Given the description of an element on the screen output the (x, y) to click on. 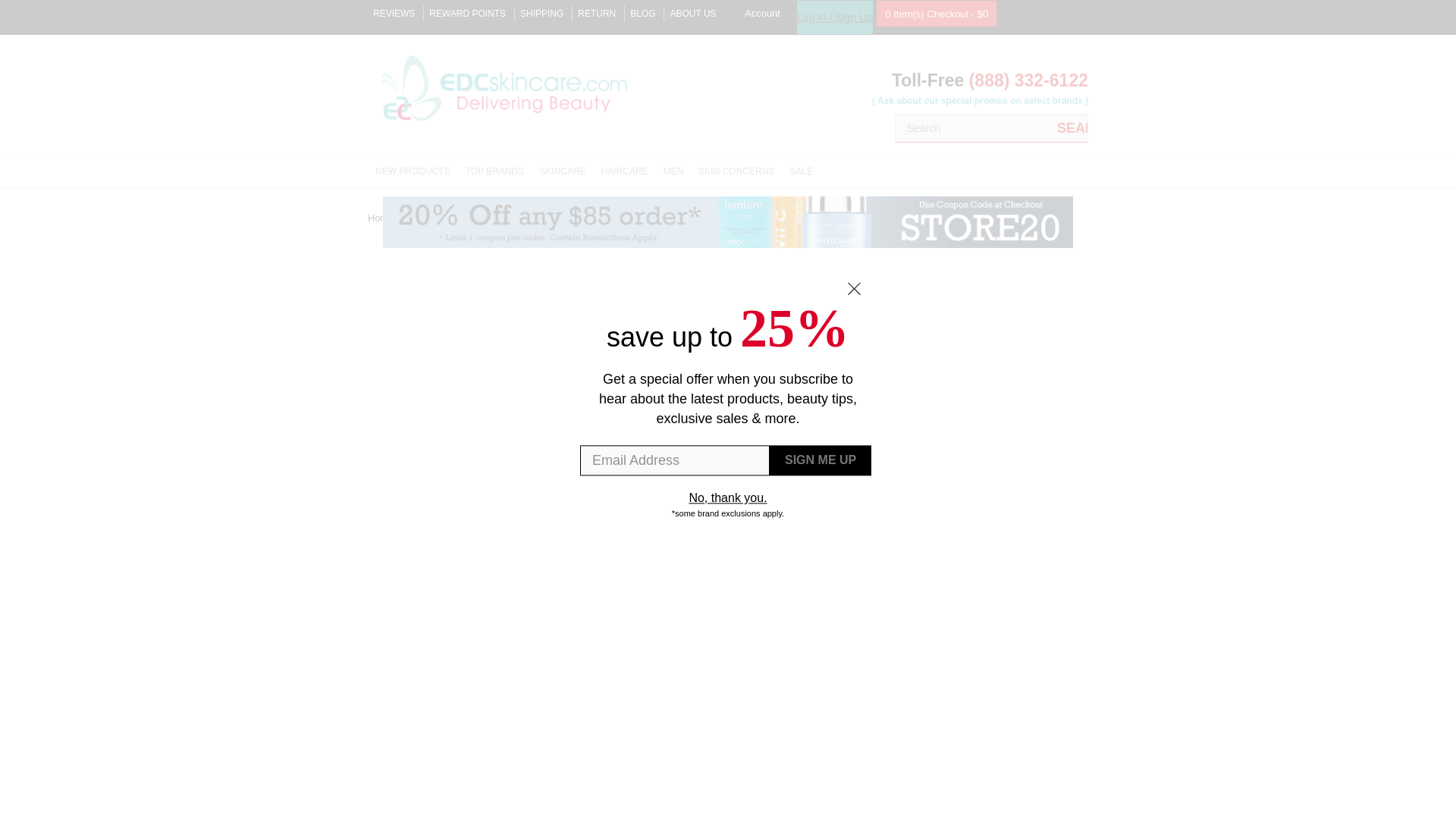
BLOG (642, 13)
SKINCARE (561, 171)
SUBMIT (820, 460)
REVIEWS (393, 13)
REWARD POINTS (467, 13)
ABOUT US (692, 13)
Maybe Later (727, 498)
TOP BRANDS (495, 171)
SHIPPING (541, 13)
NEW PRODUCTS (413, 171)
Close (853, 287)
RETURN (596, 13)
SEARCH (1072, 127)
SIGN ME UP (820, 460)
